Given the description of an element on the screen output the (x, y) to click on. 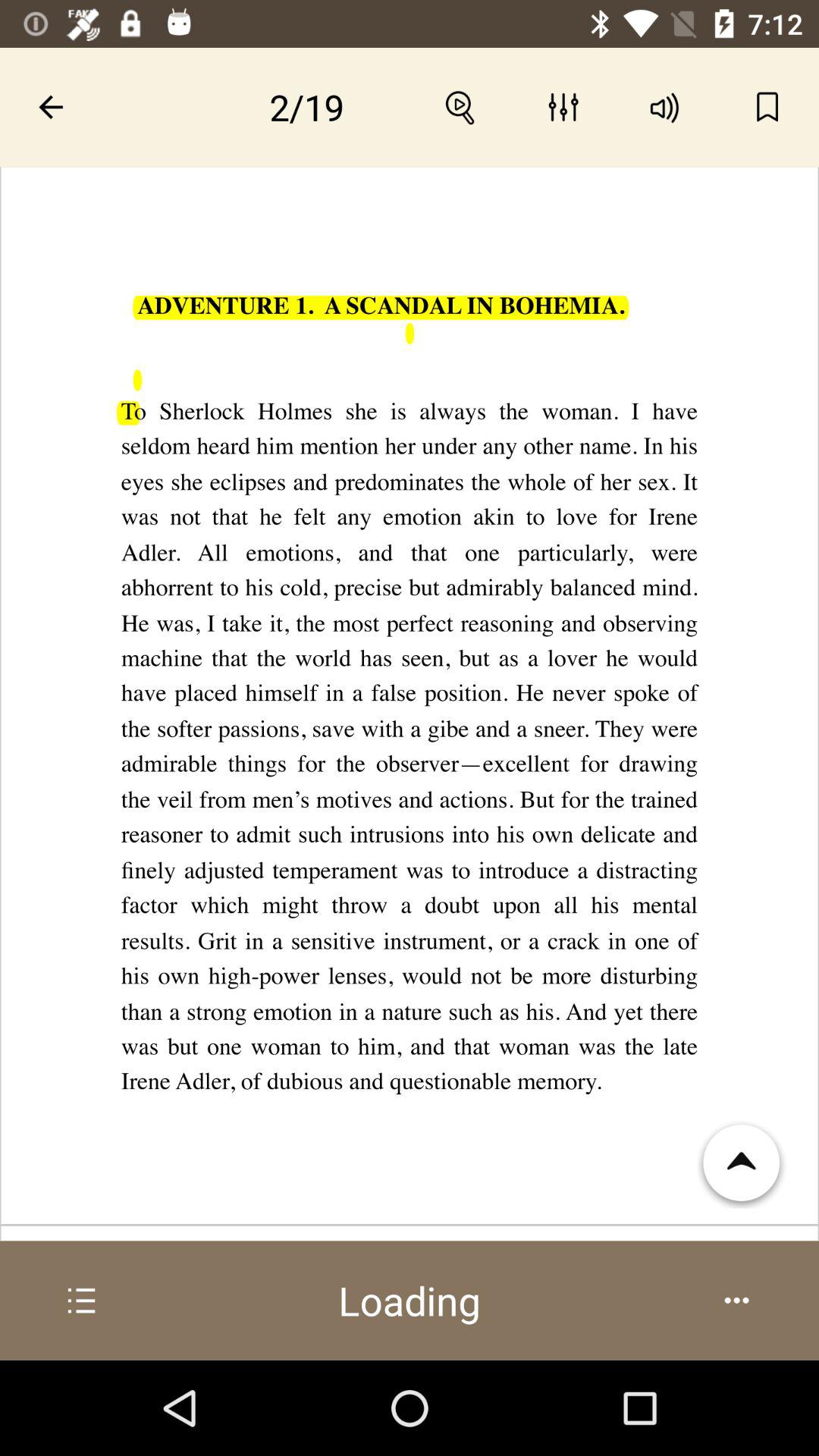
make zoom in (460, 106)
